Given the description of an element on the screen output the (x, y) to click on. 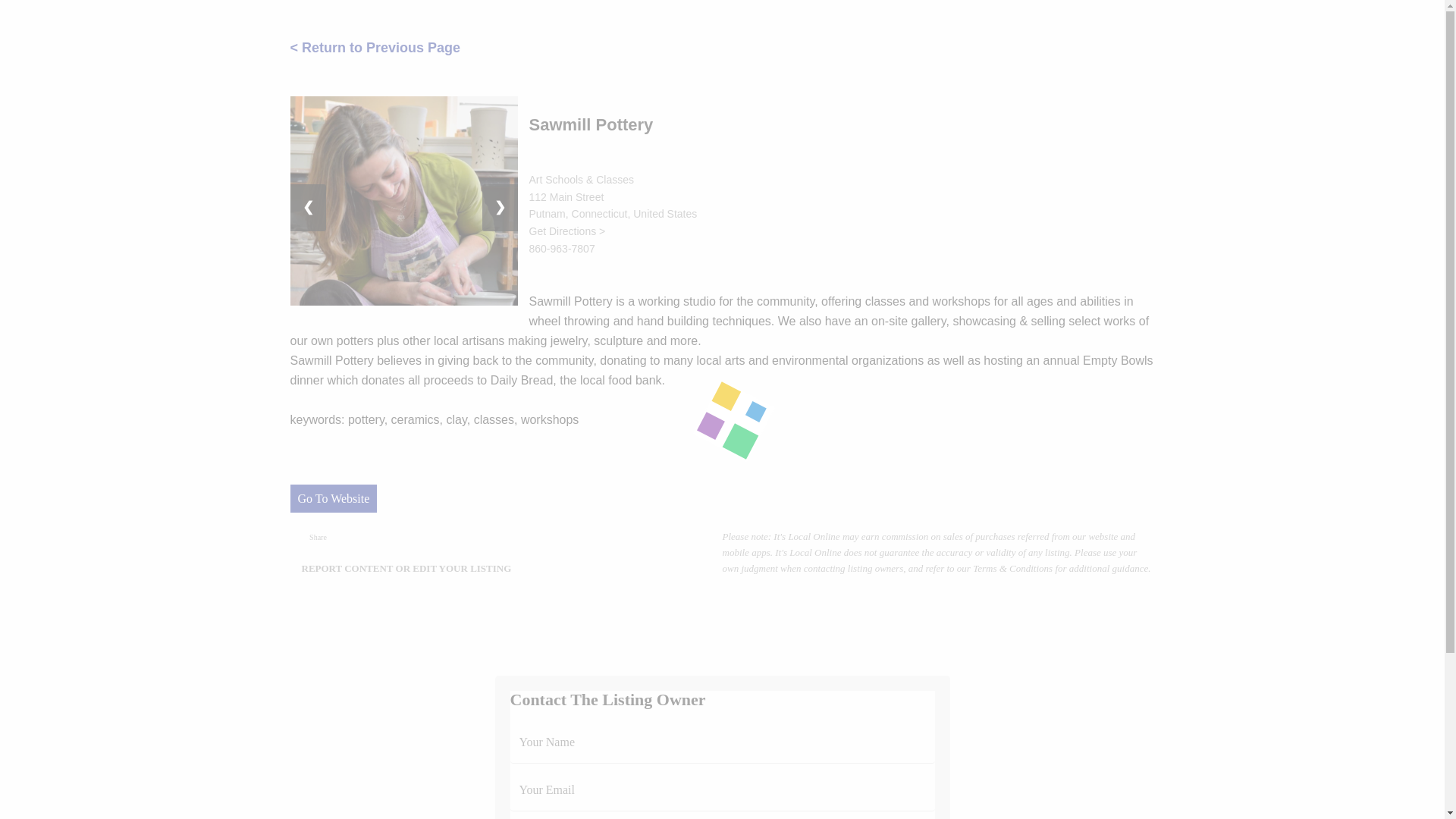
Share (317, 537)
Go To Website (333, 498)
REPORT CONTENT OR EDIT YOUR LISTING (406, 568)
